Given the description of an element on the screen output the (x, y) to click on. 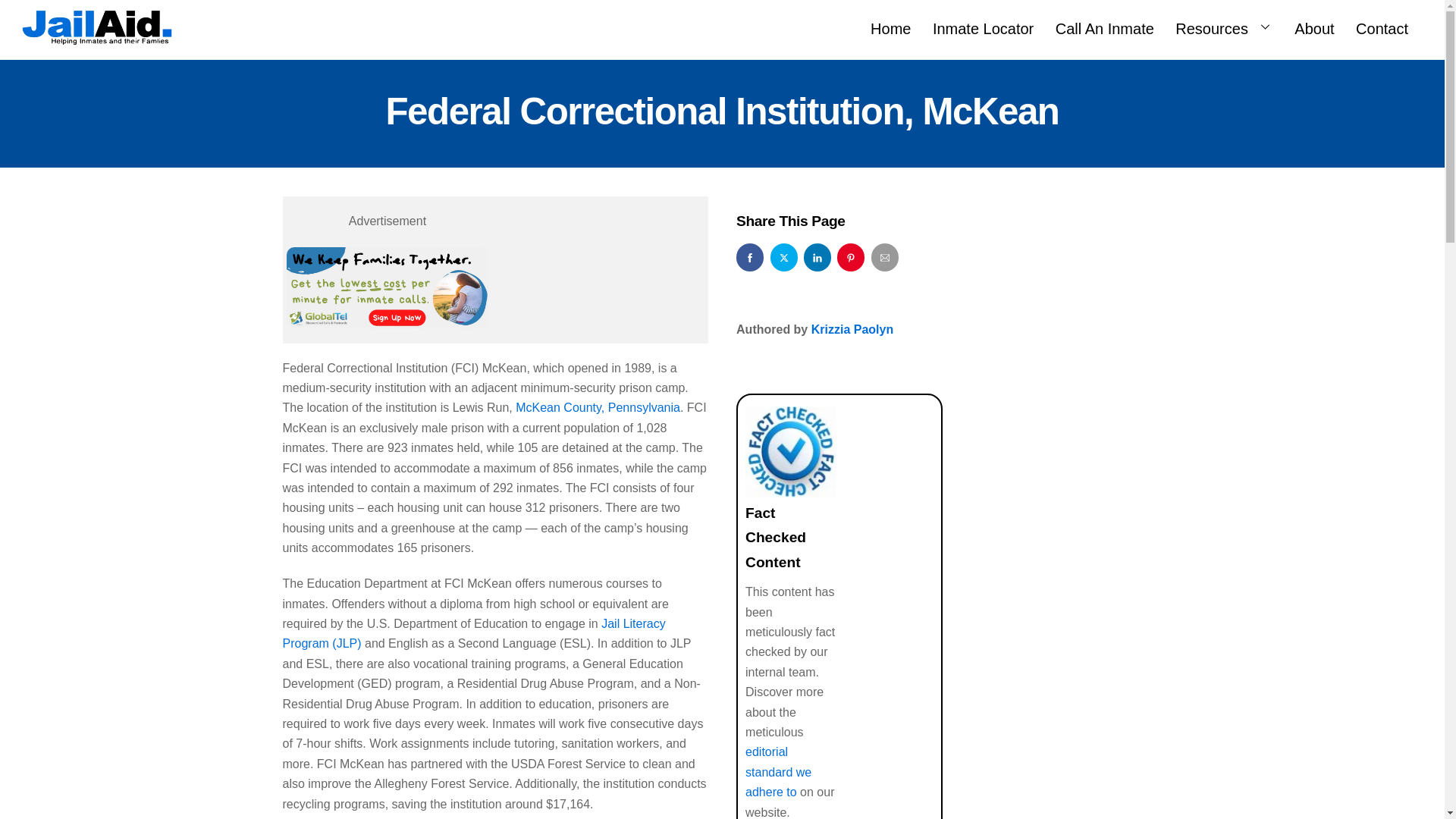
Krizzia Paolyn (851, 328)
Call An Inmate (1104, 25)
Contact (1381, 25)
Resources (1224, 25)
Home (890, 25)
editorial standard we adhere to (777, 771)
GlobalTel Sign Up (387, 287)
Fact Checked Badge (722, 25)
JailAid (790, 451)
